Given the description of an element on the screen output the (x, y) to click on. 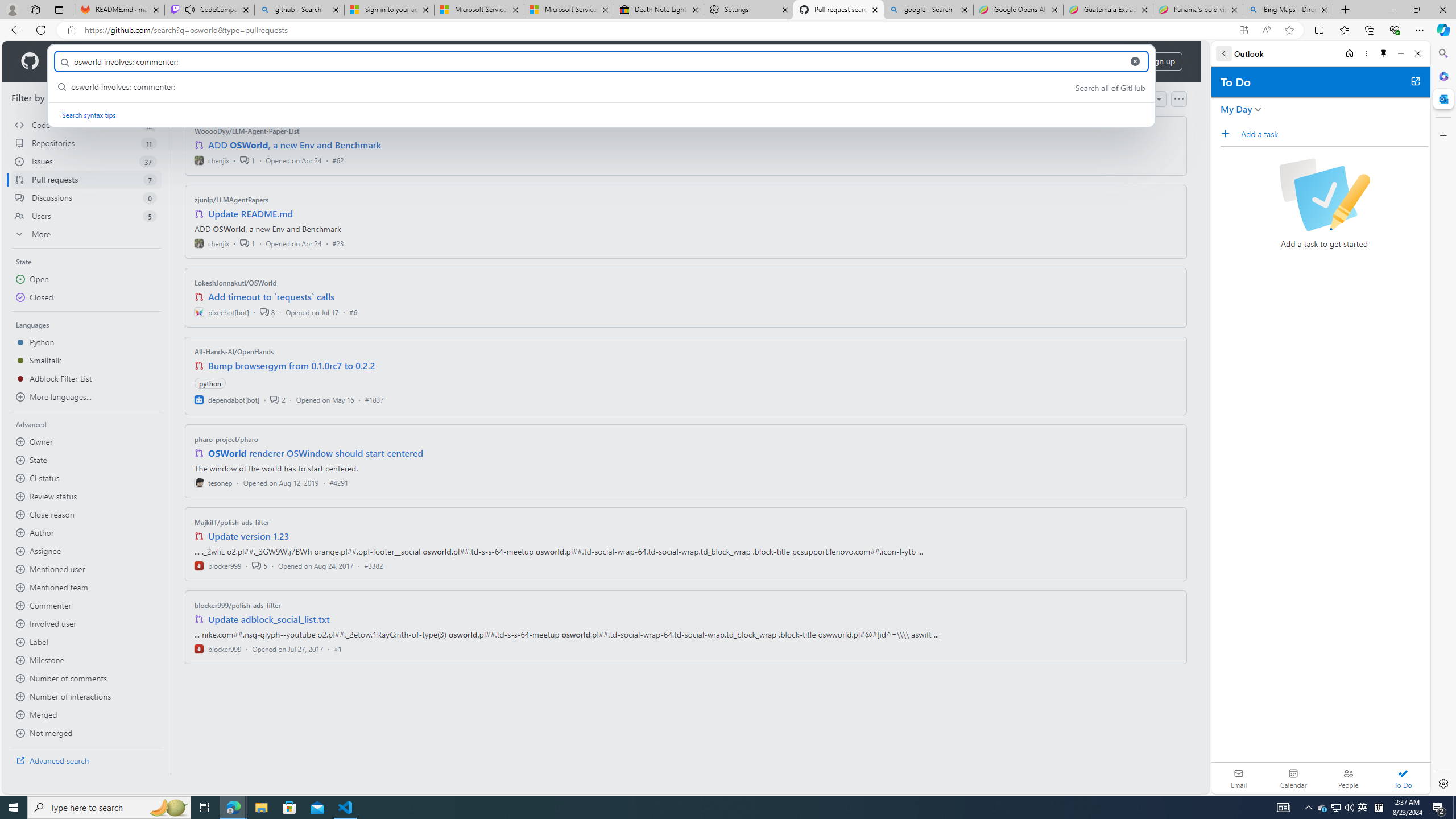
#1837 (374, 398)
Sort by: Best match (1126, 98)
App available. Install GitHub (1243, 29)
pixeebot[bot] (221, 311)
Bump browsergym from 0.1.0rc7 to 0.2.2 (291, 365)
Product (74, 60)
More languages... (86, 397)
